Given the description of an element on the screen output the (x, y) to click on. 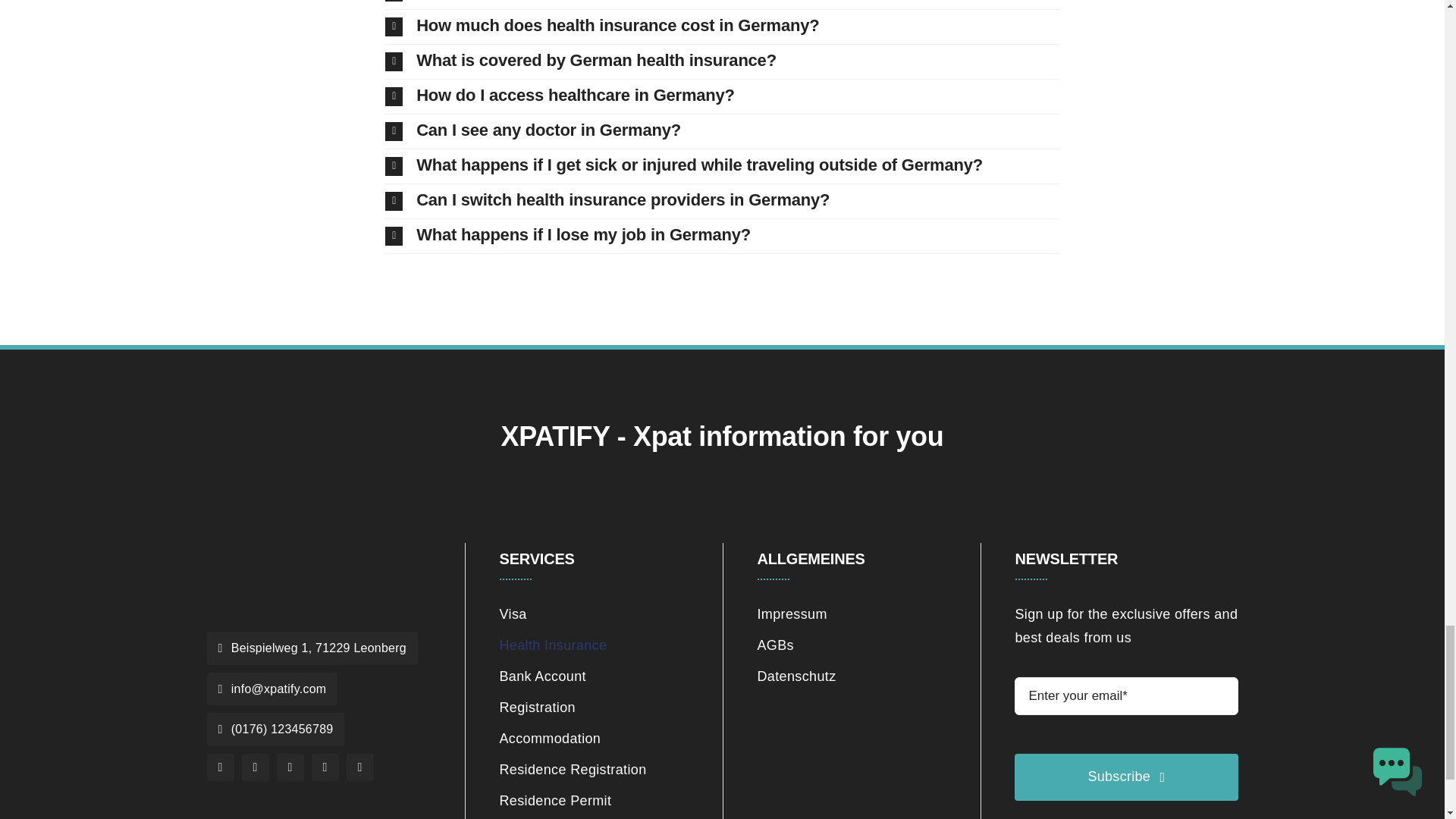
Subscribe (1125, 741)
